Given the description of an element on the screen output the (x, y) to click on. 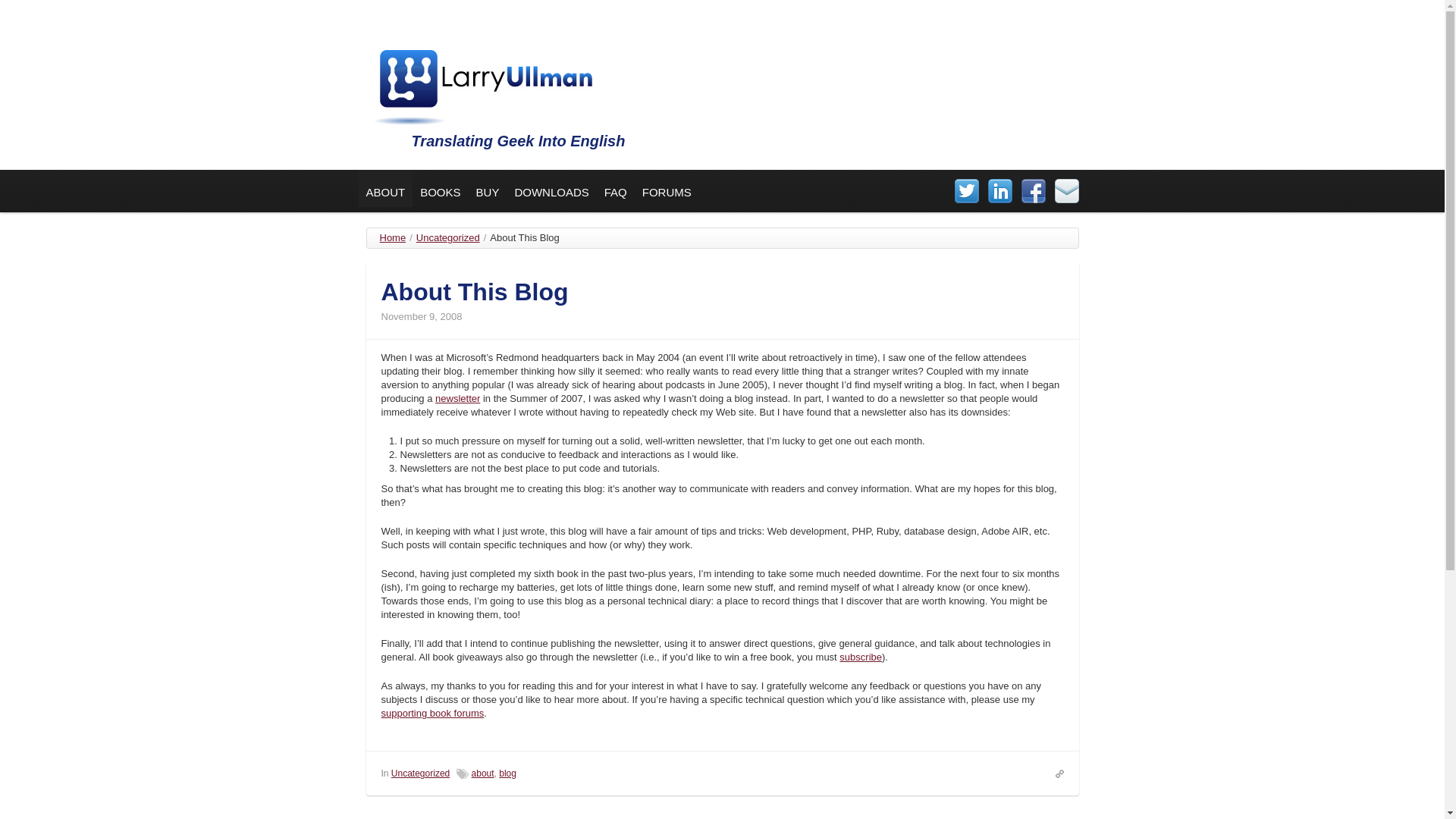
supporting book forums (431, 713)
BOOKS (439, 188)
FORUMS (666, 188)
about (483, 773)
 "PHP and MySQL for Dynamic... (448, 814)
Home (392, 237)
ABOUT (385, 188)
Larry Ullman's Newsletter (457, 398)
DOWNLOADS (550, 188)
permalink  (1056, 772)
